Given the description of an element on the screen output the (x, y) to click on. 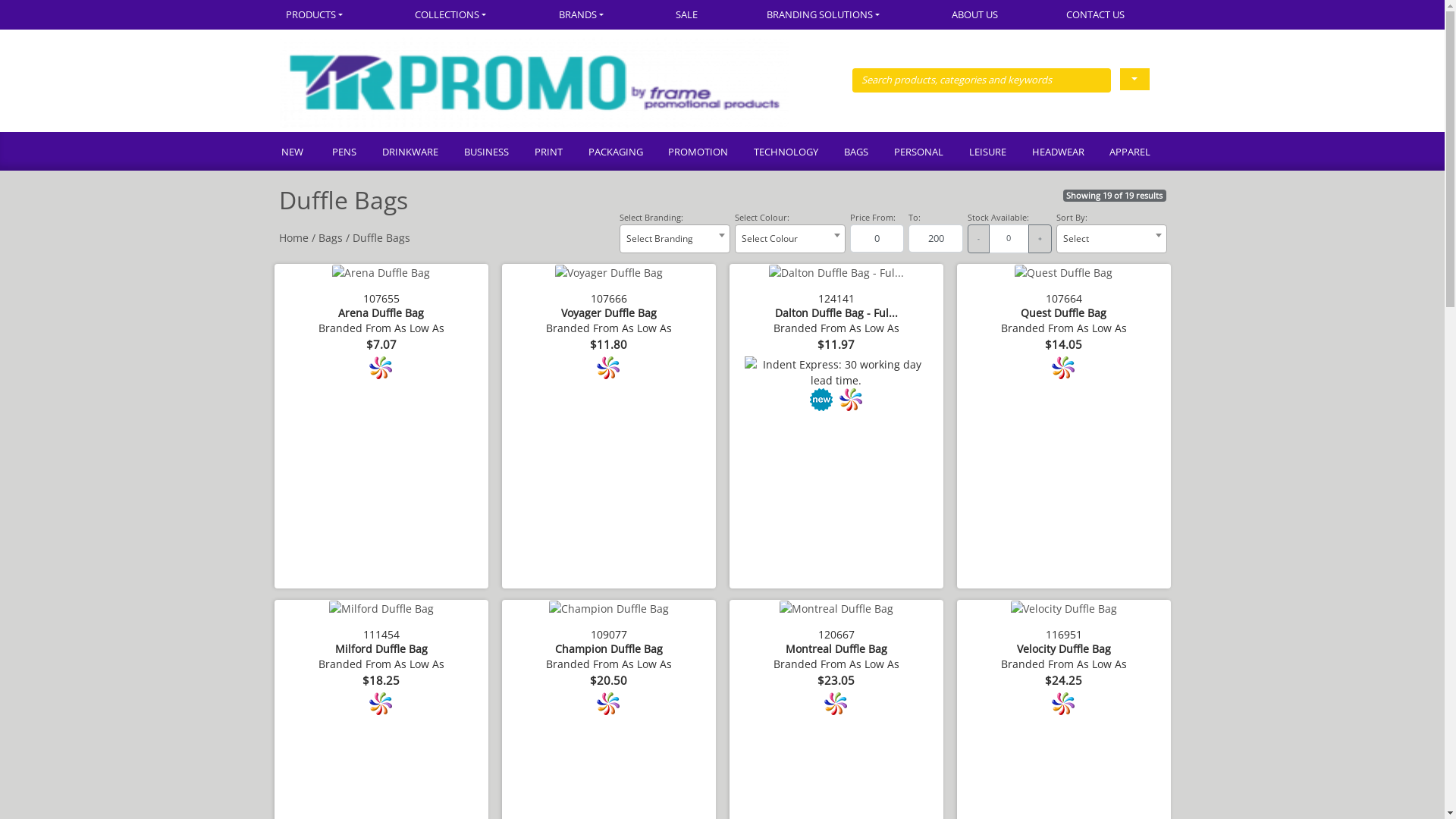
PRINT Element type: text (547, 152)
Full colour branding available. Element type: hover (608, 367)
PROMOTION Element type: text (697, 152)
120667
Montreal Duffle Bag
Branded From As Low As
$23.05 Element type: text (836, 661)
107664
Quest Duffle Bag
Branded From As Low As
$14.05 Element type: text (1063, 326)
BRANDING SOLUTIONS Element type: text (824, 14)
SALE Element type: text (687, 14)
COLLECTIONS Element type: text (452, 14)
APPAREL Element type: text (1129, 152)
107666
Voyager Duffle Bag
Branded From As Low As
$11.80 Element type: text (608, 326)
109077
Champion Duffle Bag
Branded From As Low As
$20.50 Element type: text (608, 661)
BUSINESS Element type: text (485, 152)
ABOUT US Element type: text (975, 14)
- Element type: text (978, 238)
TECHNOLOGY Element type: text (785, 152)
107655
Arena Duffle Bag
Branded From As Low As
$7.07 Element type: text (381, 326)
New Item. Element type: hover (821, 399)
Bags Element type: text (330, 237)
Full colour branding available. Element type: hover (835, 703)
Full colour branding available. Element type: hover (380, 703)
HEADWEAR Element type: text (1057, 152)
Full colour branding available. Element type: hover (608, 703)
116951
Velocity Duffle Bag
Branded From As Low As
$24.25 Element type: text (1063, 661)
BAGS Element type: text (855, 152)
PACKAGING Element type: text (614, 152)
Full colour branding available. Element type: hover (380, 367)
Full colour branding available. Element type: hover (850, 399)
PENS Element type: text (344, 152)
CONTACT US Element type: text (1095, 14)
+ Element type: text (1039, 238)
LEISURE Element type: text (986, 152)
111454
Milford Duffle Bag
Branded From As Low As
$18.25 Element type: text (381, 661)
BRANDS Element type: text (582, 14)
Indent Express: 30 working day lead time. Element type: hover (836, 372)
  Element type: text (1134, 79)
Home Element type: text (293, 237)
NEW Element type: text (299, 152)
Full colour branding available. Element type: hover (1063, 703)
PERSONAL Element type: text (917, 152)
DRINKWARE Element type: text (409, 152)
Full colour branding available. Element type: hover (1063, 367)
Duffle Bags Element type: text (380, 237)
PRODUCTS Element type: text (330, 14)
